Given the description of an element on the screen output the (x, y) to click on. 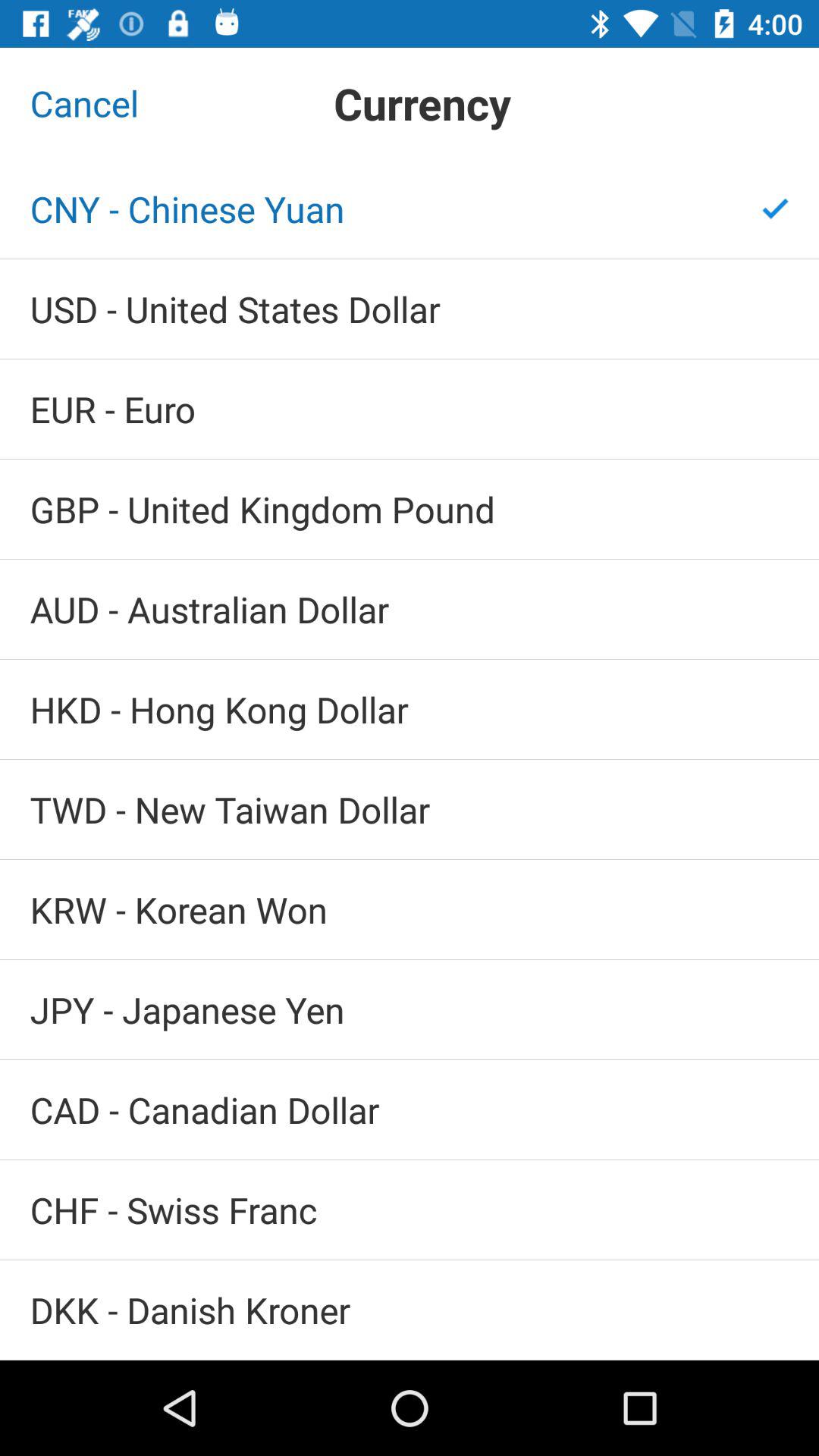
choose icon below the chf - swiss franc icon (409, 1309)
